Given the description of an element on the screen output the (x, y) to click on. 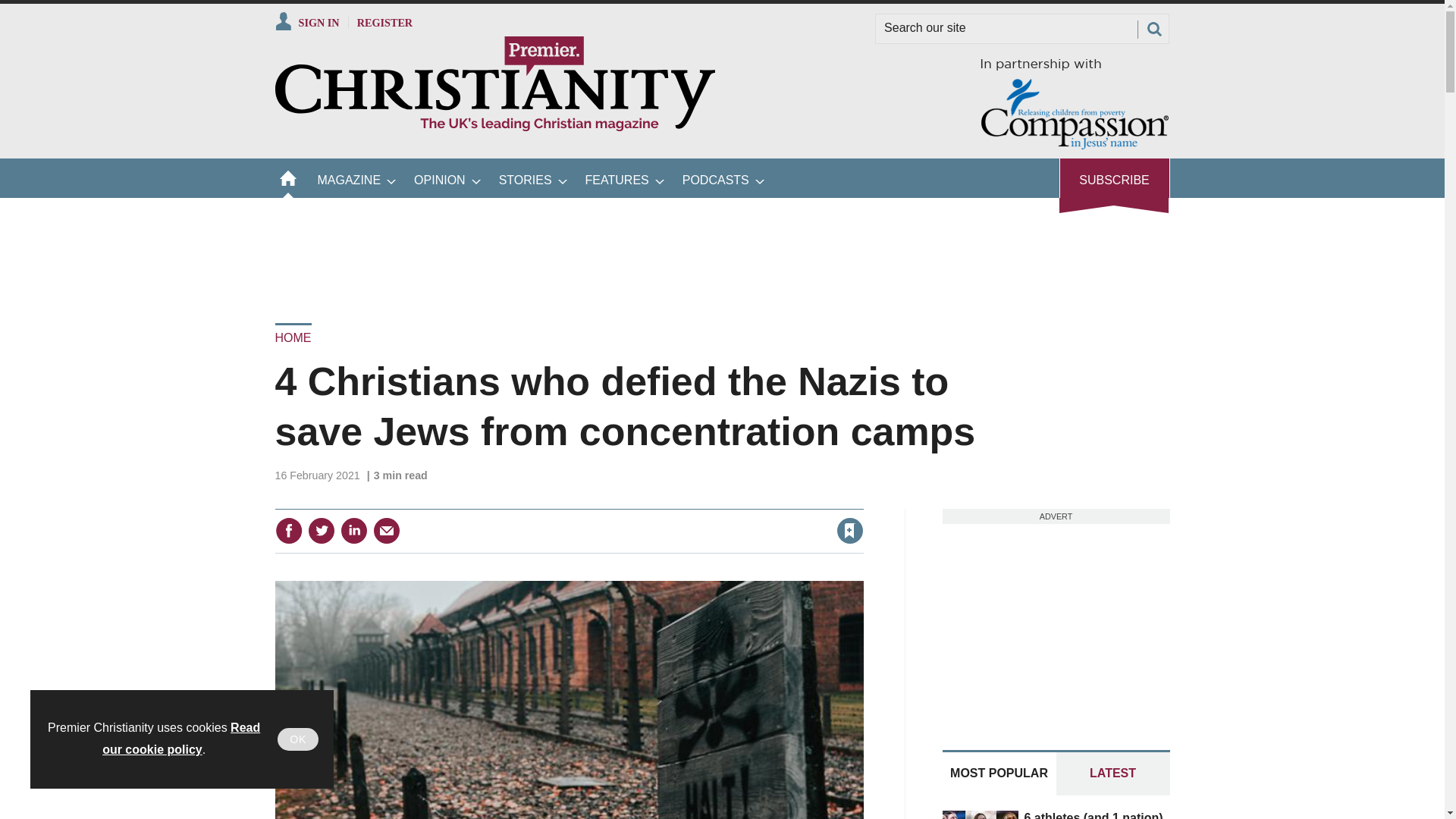
OK (298, 739)
SIGN IN (307, 22)
Share this on Twitter (320, 530)
Site name (494, 126)
Share this on Facebook (288, 530)
Share this on Linked in (352, 530)
SEARCH (1153, 28)
Email this article (386, 530)
3rd party ad content (721, 250)
Read our cookie policy (180, 738)
